Given the description of an element on the screen output the (x, y) to click on. 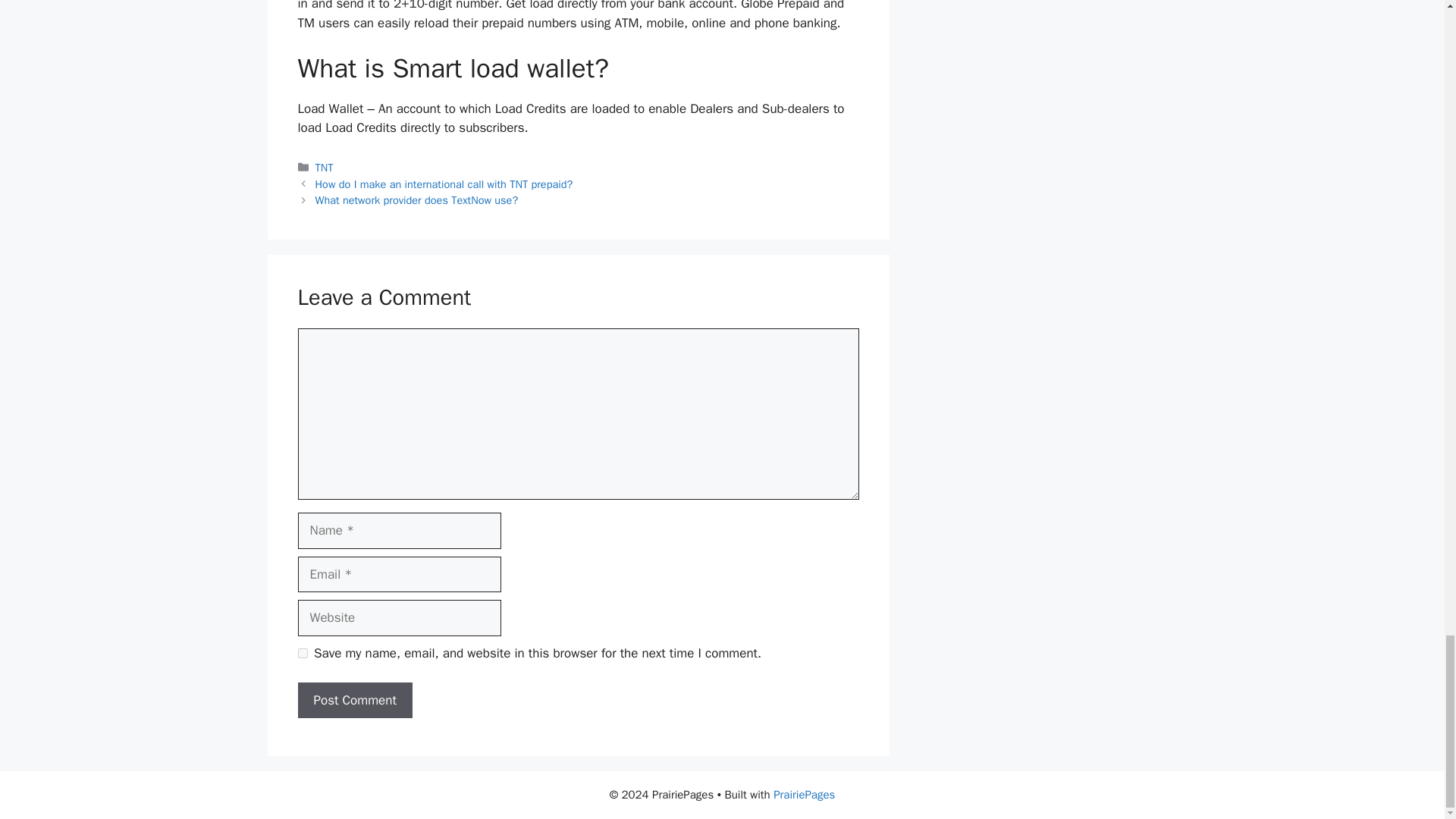
yes (302, 653)
What network provider does TextNow use? (416, 200)
Post Comment (354, 700)
How do I make an international call with TNT prepaid? (444, 183)
Post Comment (354, 700)
TNT (324, 167)
